Given the description of an element on the screen output the (x, y) to click on. 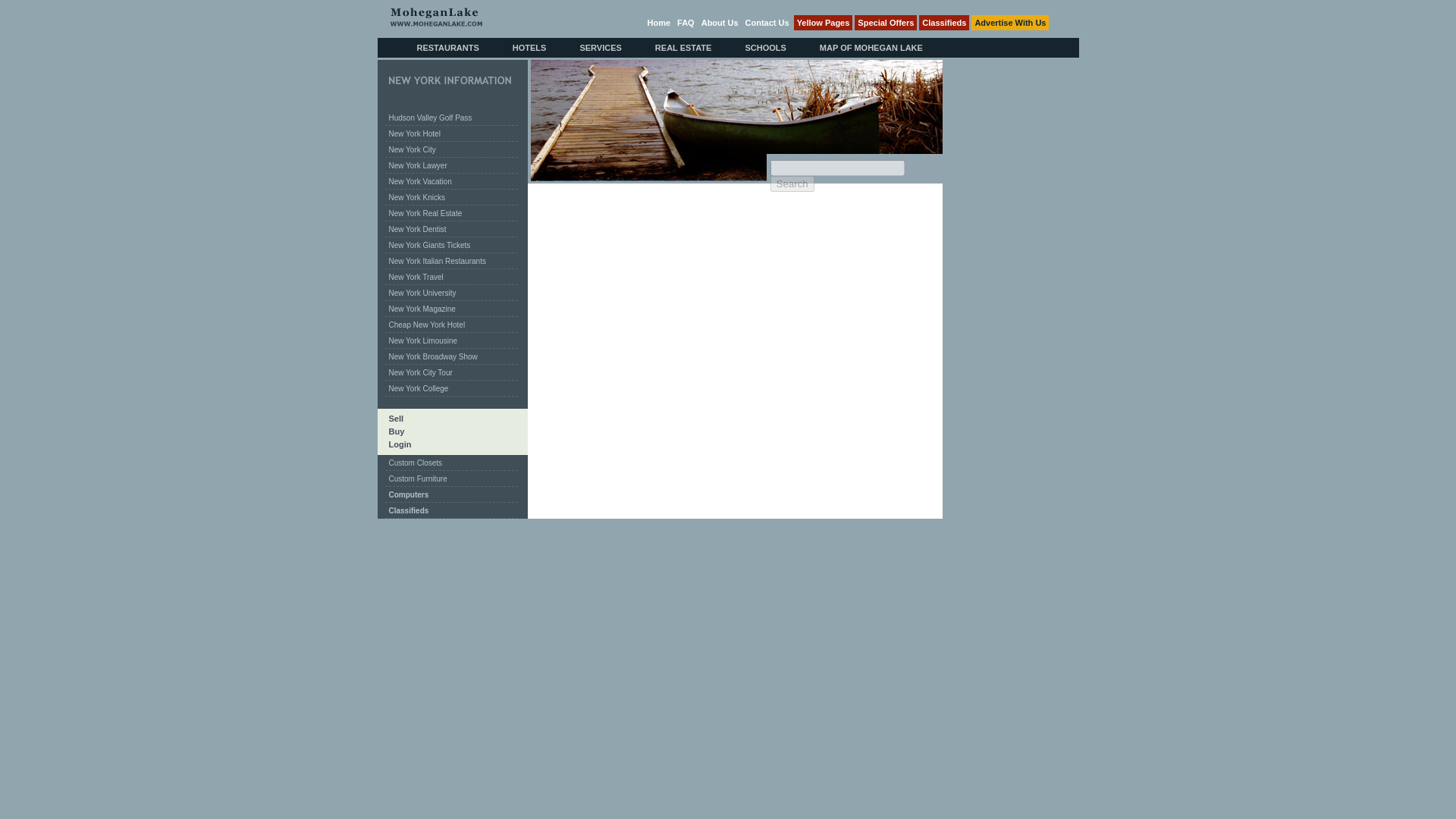
New York Italian Restaurants (437, 261)
Classifieds (943, 22)
Home (658, 22)
Custom Furniture (418, 478)
New York Hotel (414, 133)
About Us (719, 22)
Advertise With Us (1009, 22)
New York Lawyer (418, 165)
Buy (390, 430)
New York Information (449, 80)
